Given the description of an element on the screen output the (x, y) to click on. 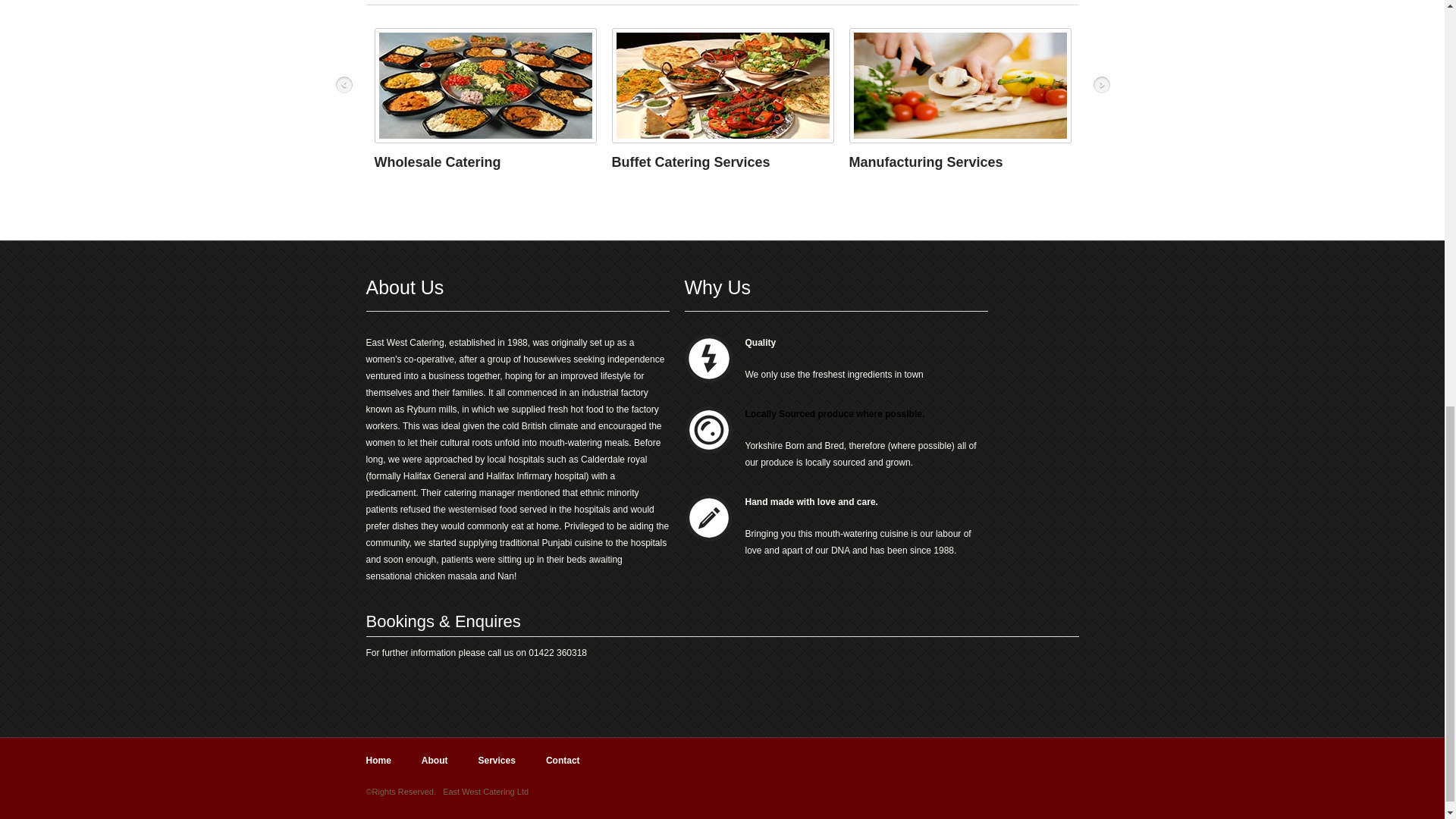
Contact (562, 760)
Home (377, 760)
Services (496, 760)
Buffet Catering Services (690, 161)
Manufacturing Services (925, 161)
East West Catering Ltd (485, 791)
About (435, 760)
Wholesale Catering (437, 161)
